Given the description of an element on the screen output the (x, y) to click on. 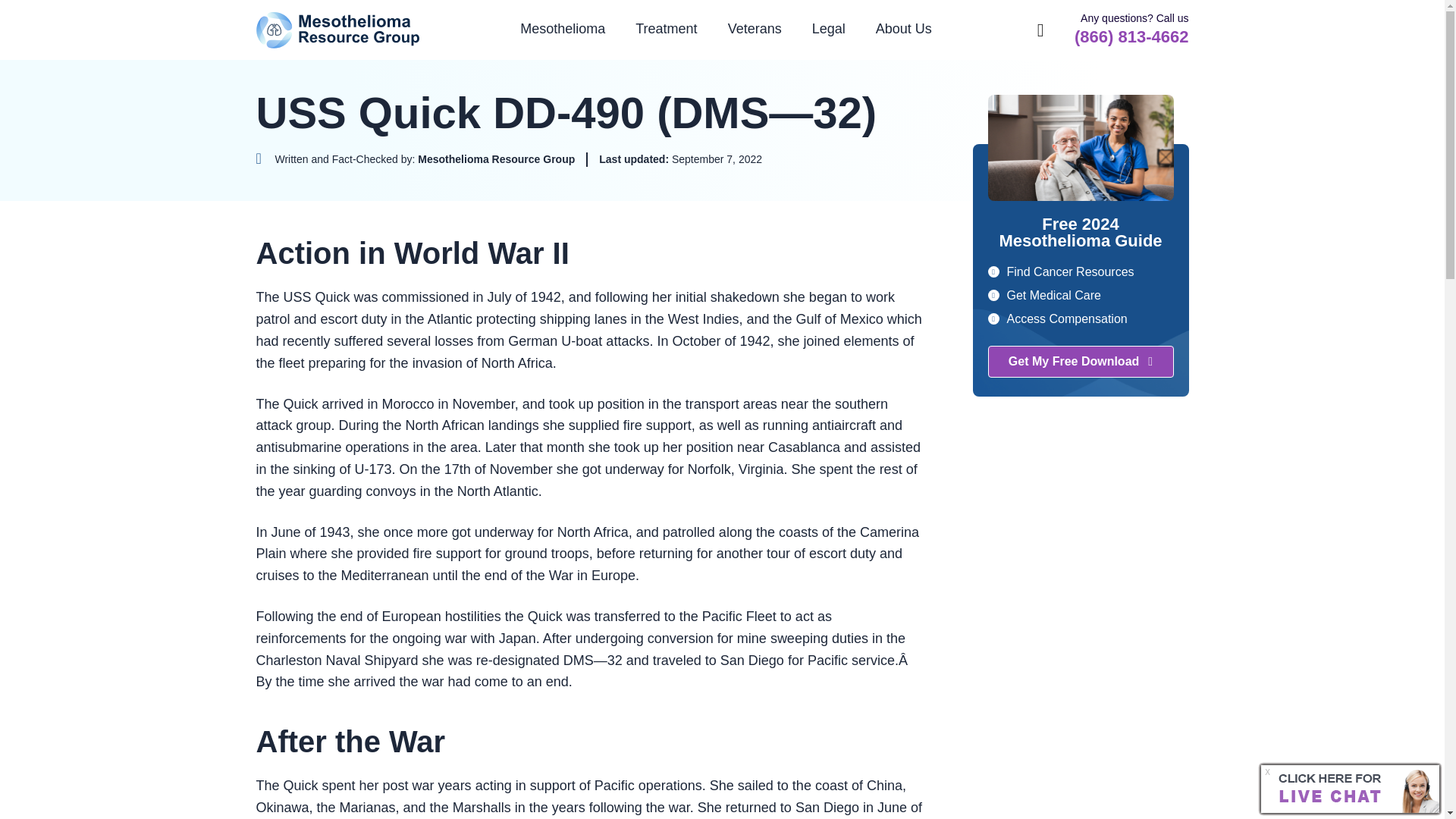
Treatment (665, 28)
Legal (828, 28)
Mesothelioma (562, 28)
Veterans (754, 28)
Treatment (665, 28)
Veterans (754, 28)
About Us (903, 28)
Mesothelioma Resource Group (339, 29)
Click to view Mesothelioma Resource Group (415, 159)
Mesothelioma Resource Group (339, 29)
Mesothelioma (562, 28)
